Given the description of an element on the screen output the (x, y) to click on. 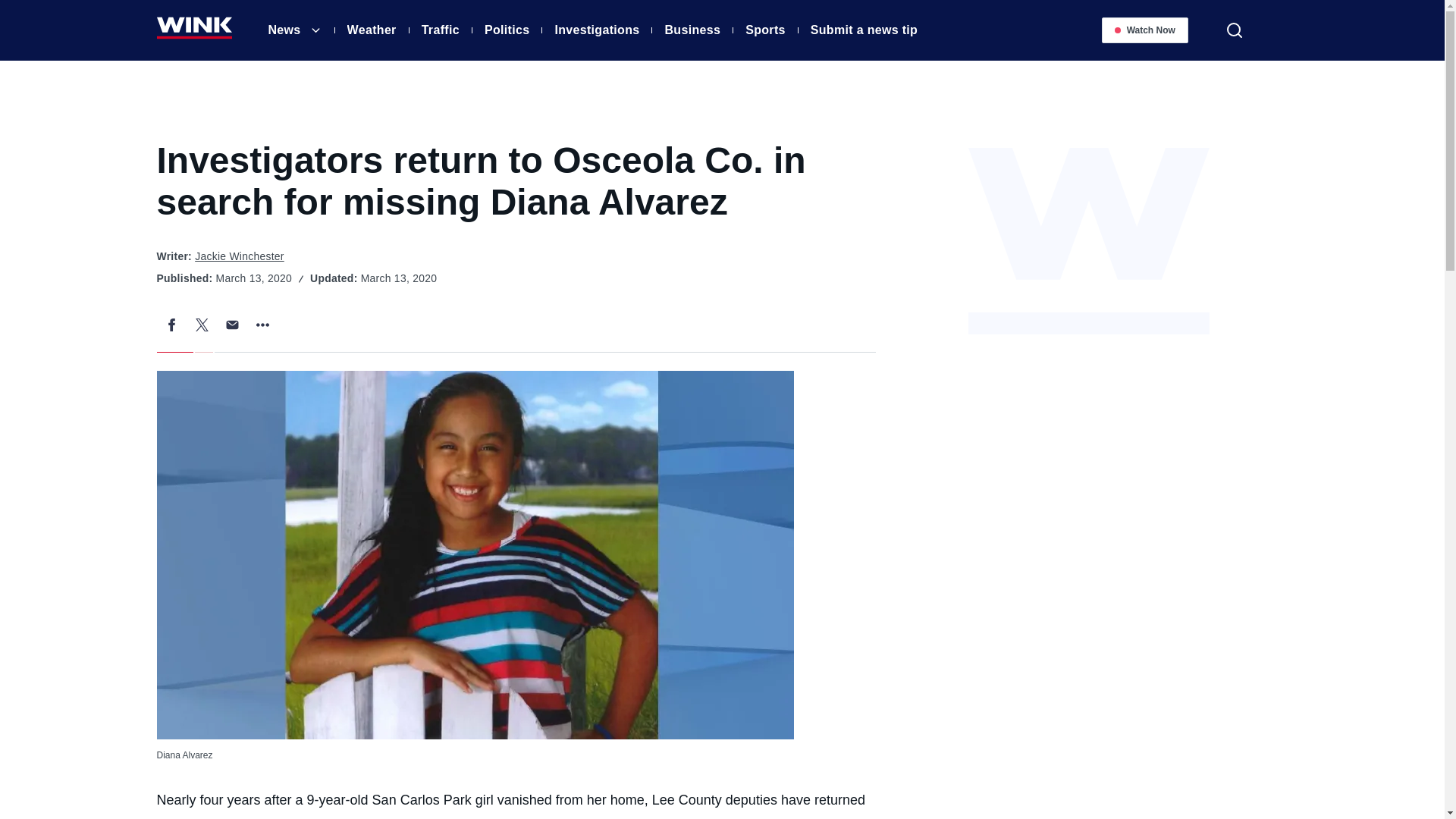
Sports (765, 31)
Business (691, 31)
Watch Now (1145, 30)
Politics (506, 31)
Investigations (596, 31)
Click to email a link to a friend (231, 324)
Click to share on Facebook (170, 324)
Submit a news tip (863, 31)
Traffic (441, 31)
Weather (371, 31)
Toggle Search (1233, 30)
News (284, 31)
Click to share on Twitter (201, 324)
WINK News (193, 32)
